Given the description of an element on the screen output the (x, y) to click on. 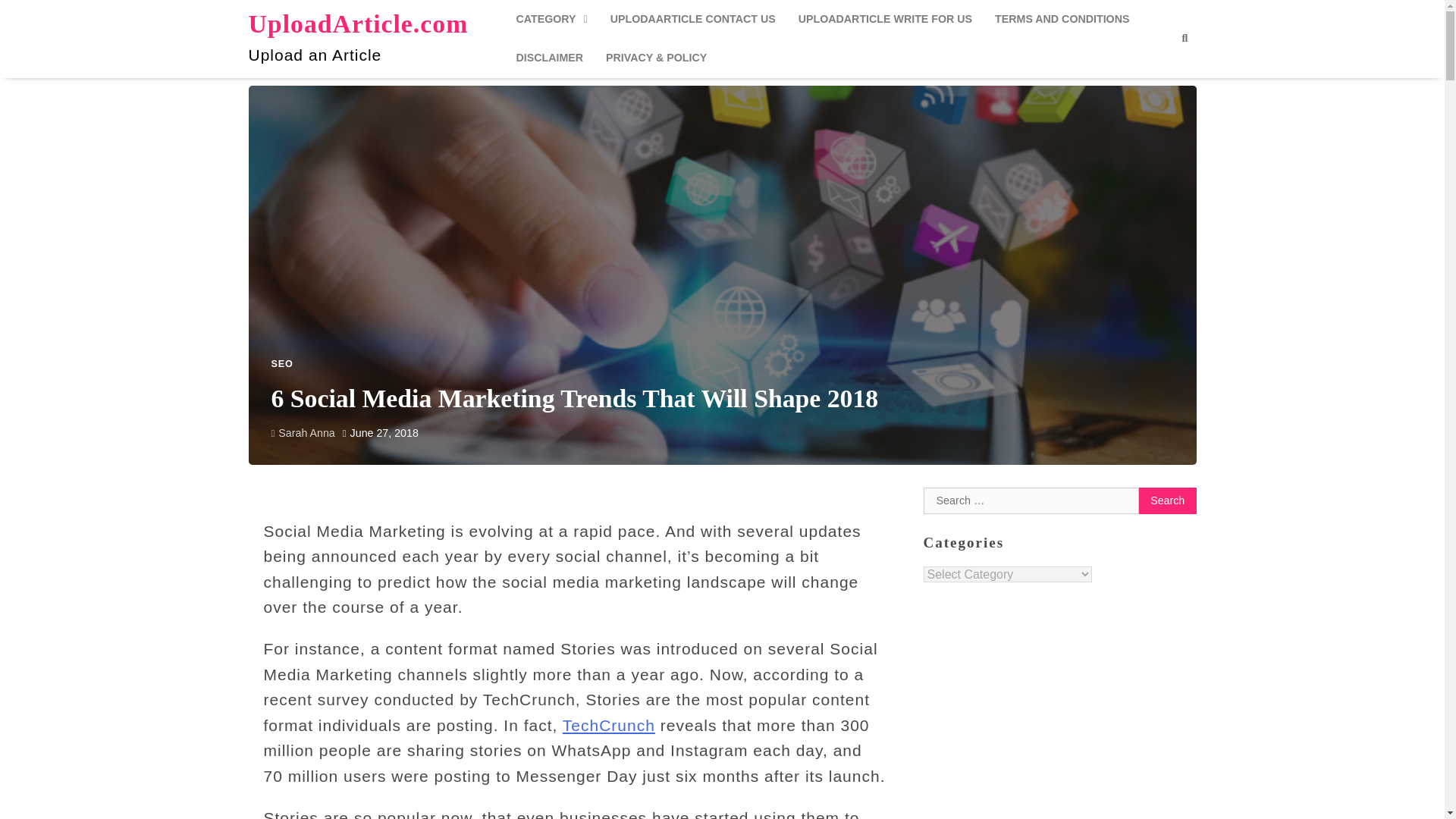
TechCrunch (608, 724)
CATEGORY (550, 19)
Search (1157, 74)
Search (1184, 38)
Sarah Anna (302, 432)
Search (1167, 501)
TERMS AND CONDITIONS (1062, 19)
Search (1167, 501)
DISCLAIMER (548, 57)
UploadArticle.com (358, 23)
